Given the description of an element on the screen output the (x, y) to click on. 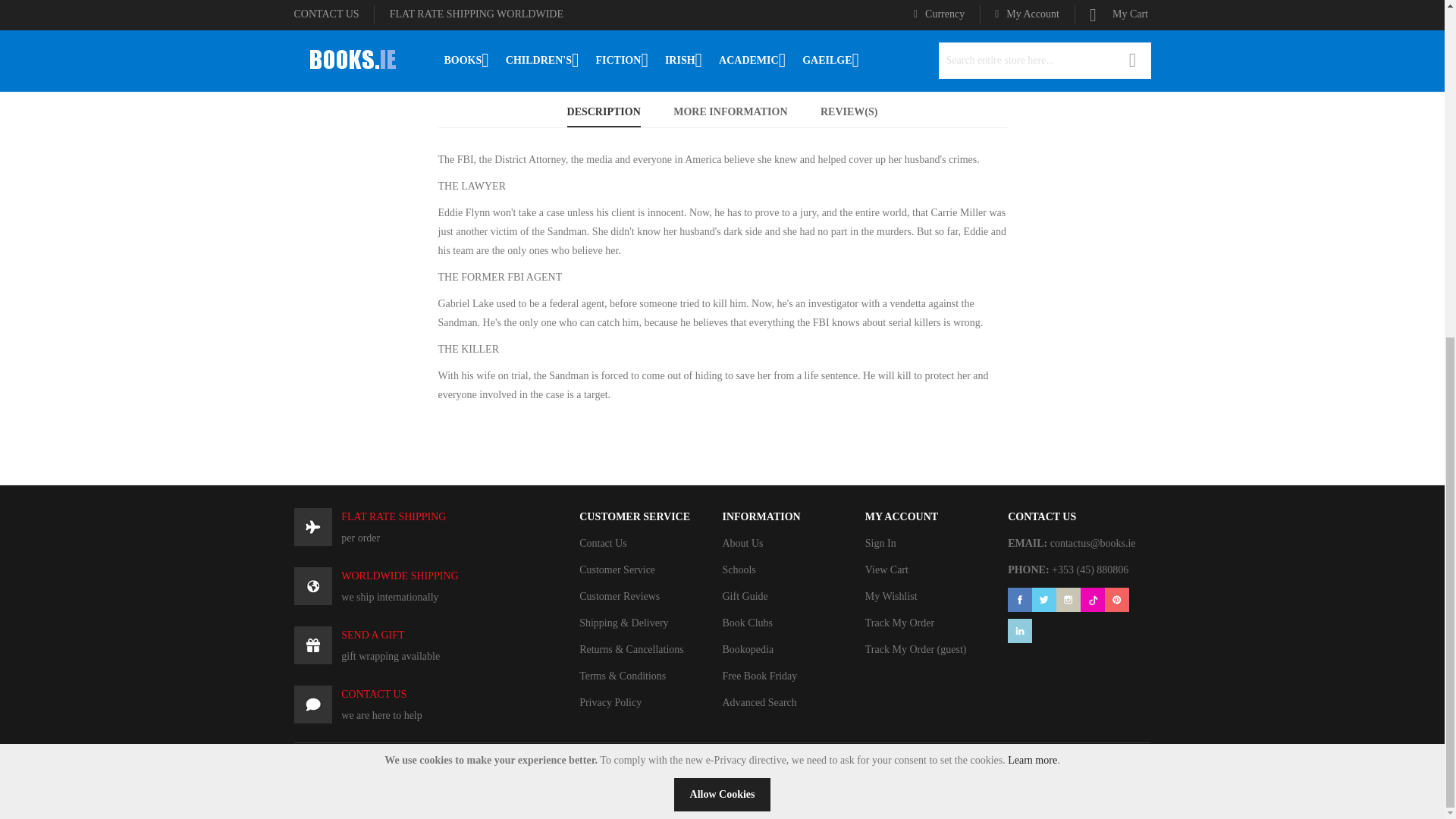
Learn more (1032, 191)
Allow Cookies (722, 225)
